Given the description of an element on the screen output the (x, y) to click on. 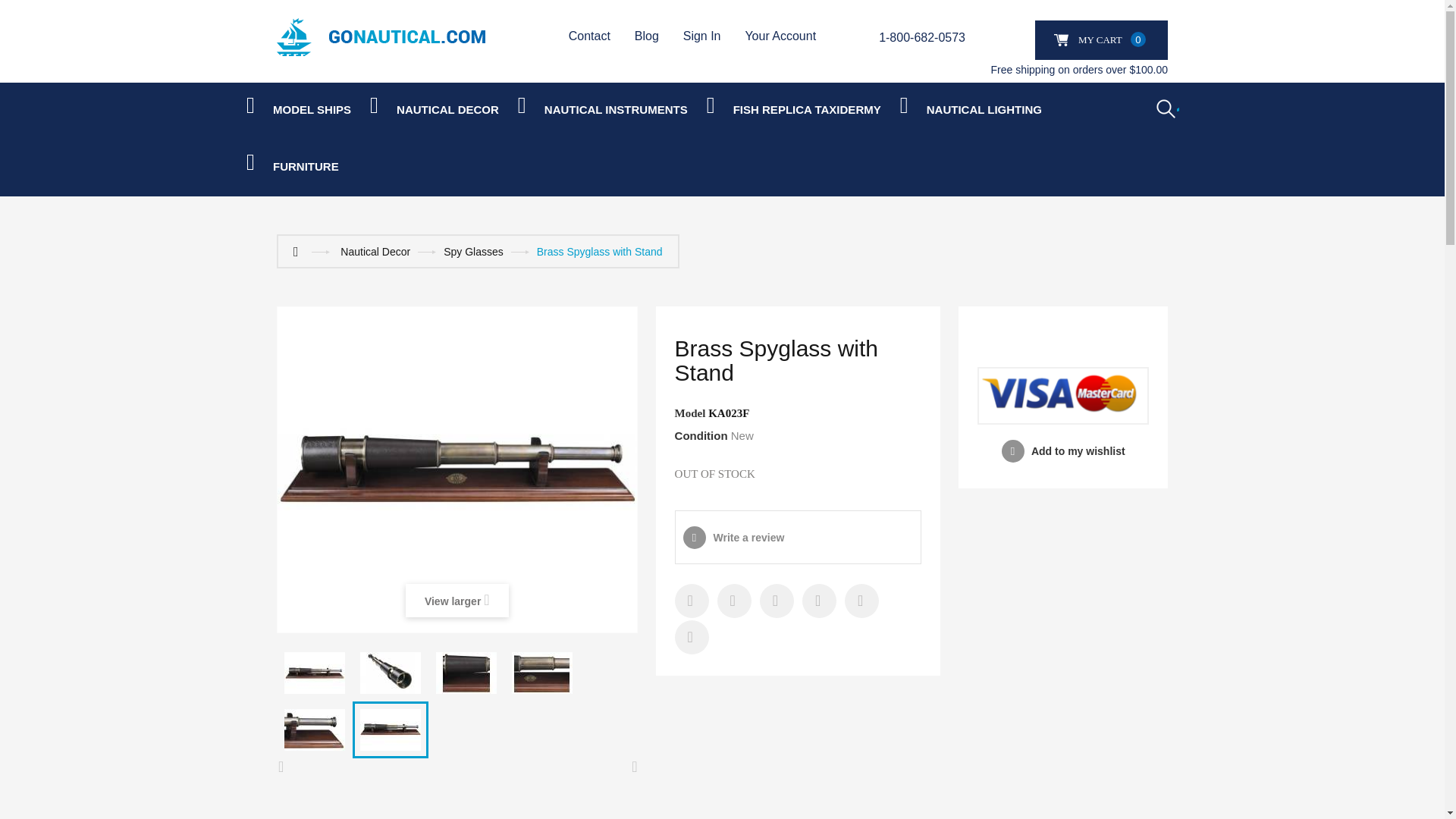
Blog (646, 35)
Login to your customer account (712, 35)
MY CART 0 (1101, 39)
GoNautical (380, 37)
Model Ships  (311, 109)
Blog (646, 35)
Contact (589, 35)
View my customer account (790, 35)
contact (589, 35)
Sign In (712, 35)
